Given the description of an element on the screen output the (x, y) to click on. 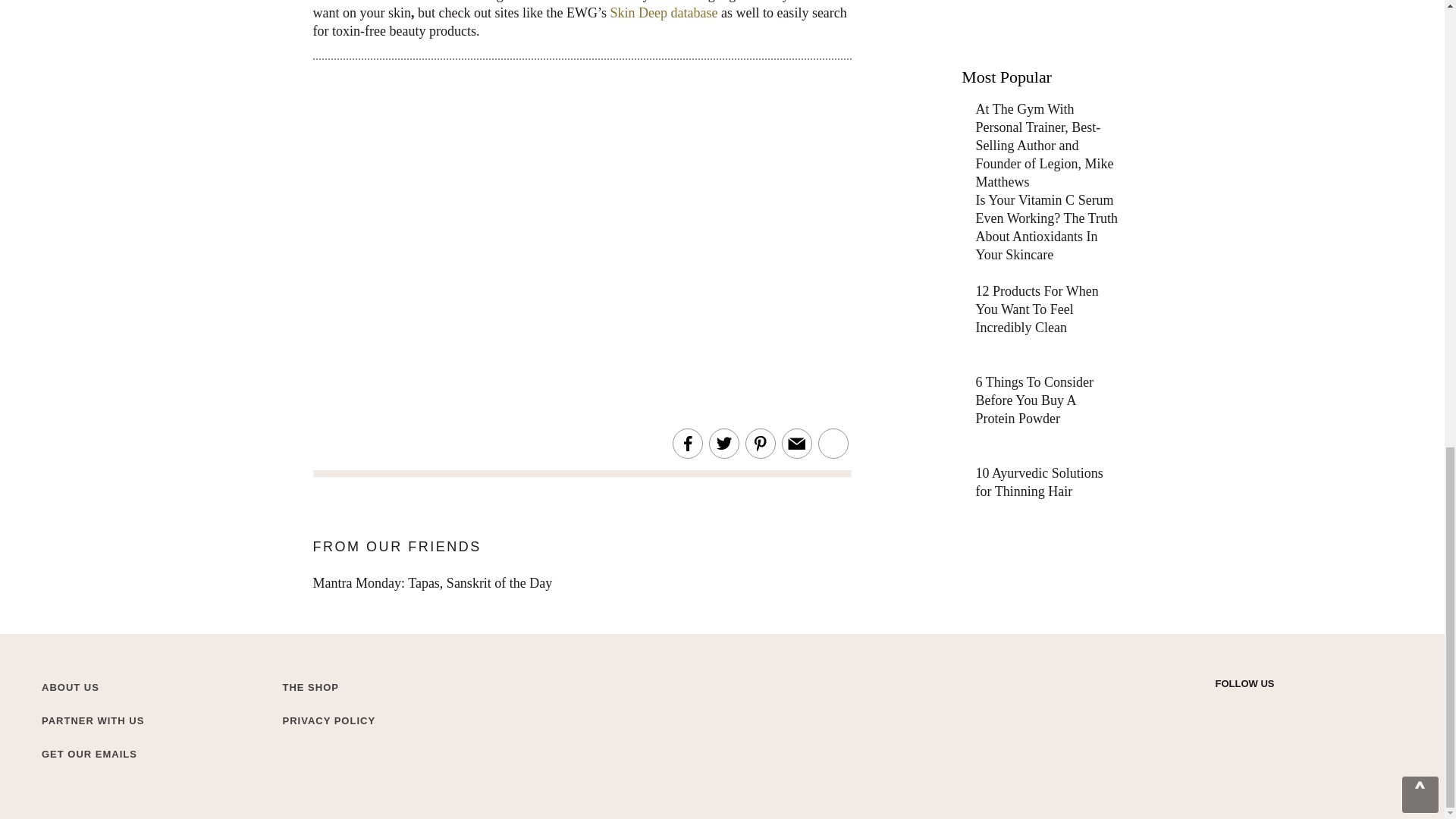
Instagram (1249, 708)
Pinterest (1302, 708)
Share an image of this article on Pinterest (760, 443)
Share this article on Facebook (687, 443)
Twitter (1222, 708)
Share this article on Twitter (724, 443)
Email this article (797, 443)
Facebook (1275, 708)
